Given the description of an element on the screen output the (x, y) to click on. 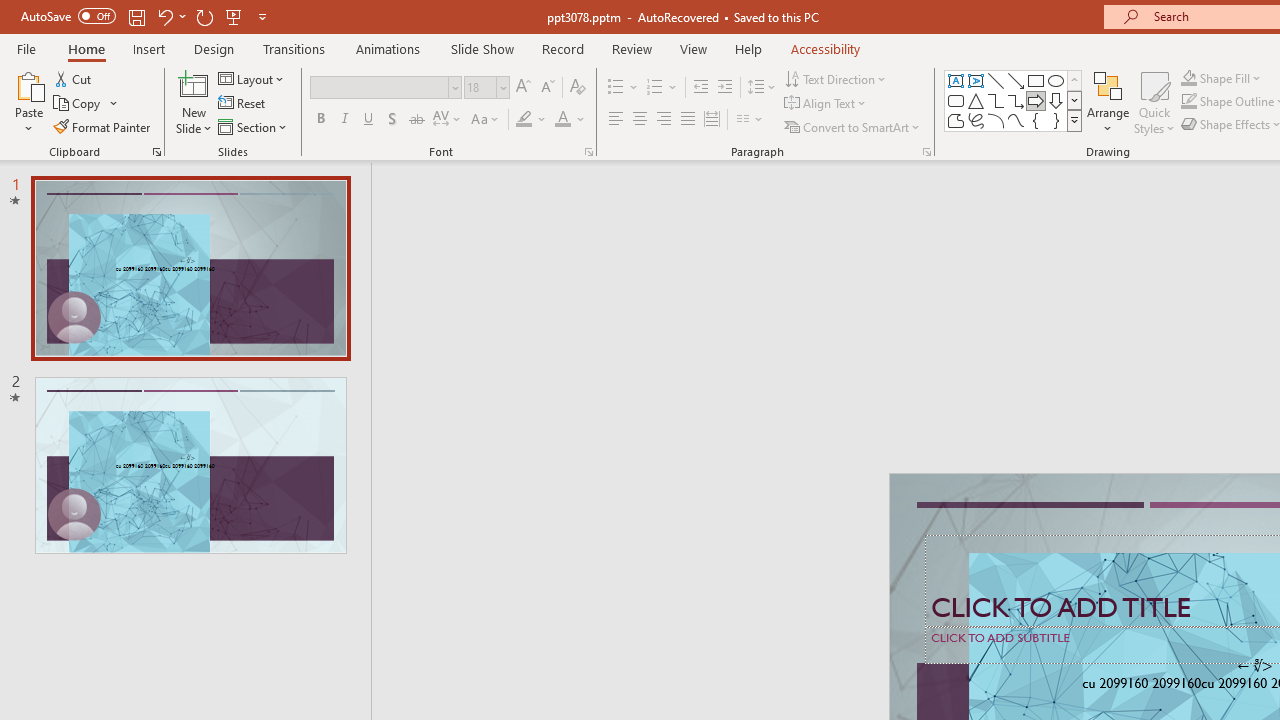
Shape Outline Green, Accent 1 (1188, 101)
TextBox 7 (1254, 666)
